Given the description of an element on the screen output the (x, y) to click on. 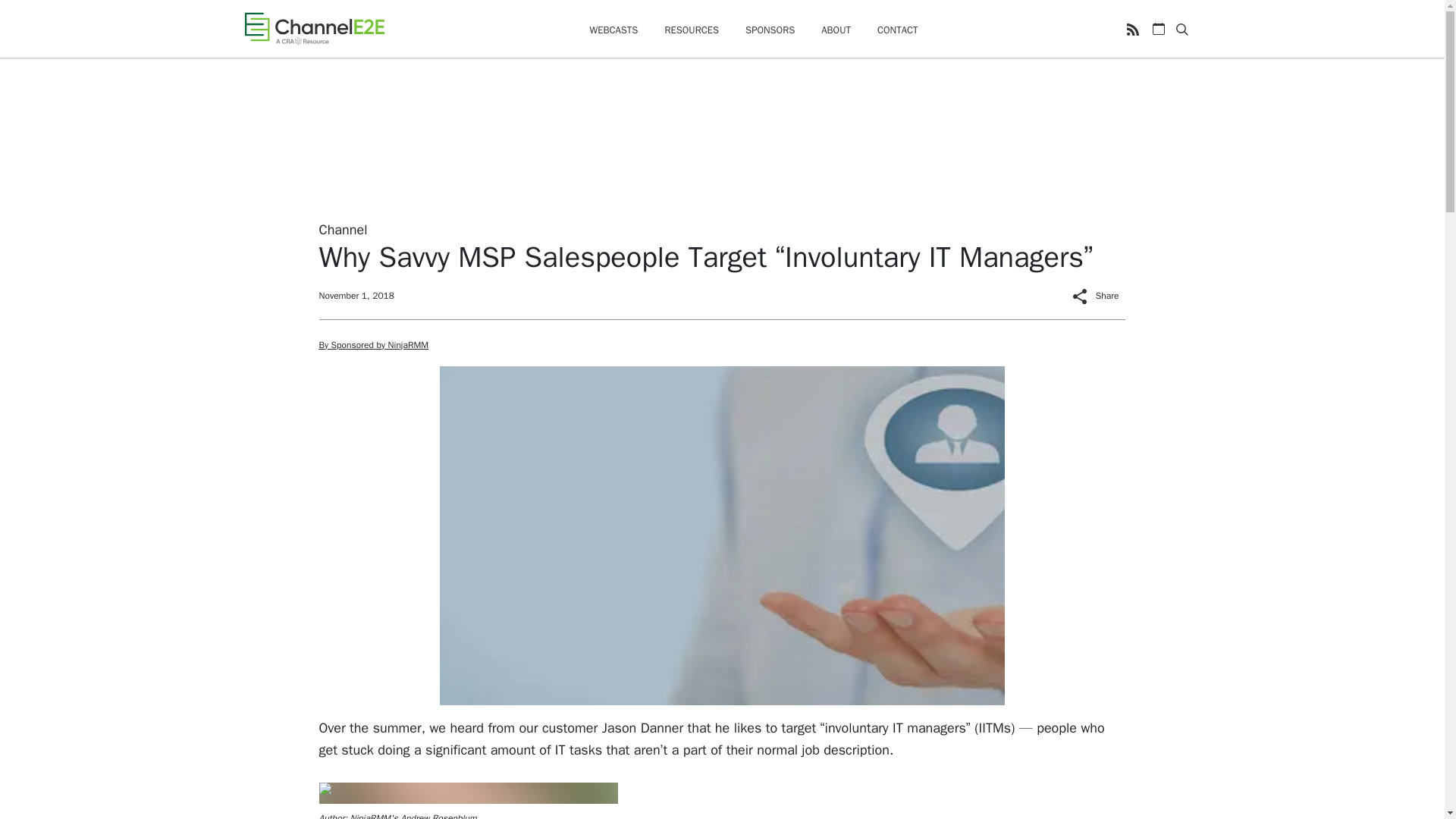
RESOURCES (691, 30)
WEBCASTS (613, 30)
NinjaRMM's (373, 815)
View Cybersecurity Conference Calendar (1158, 28)
ABOUT (835, 30)
ChannelE2E (314, 27)
CONTACT (897, 30)
SPONSORS (769, 30)
By Sponsored by NinjaRMM (373, 345)
Channel (342, 229)
